Given the description of an element on the screen output the (x, y) to click on. 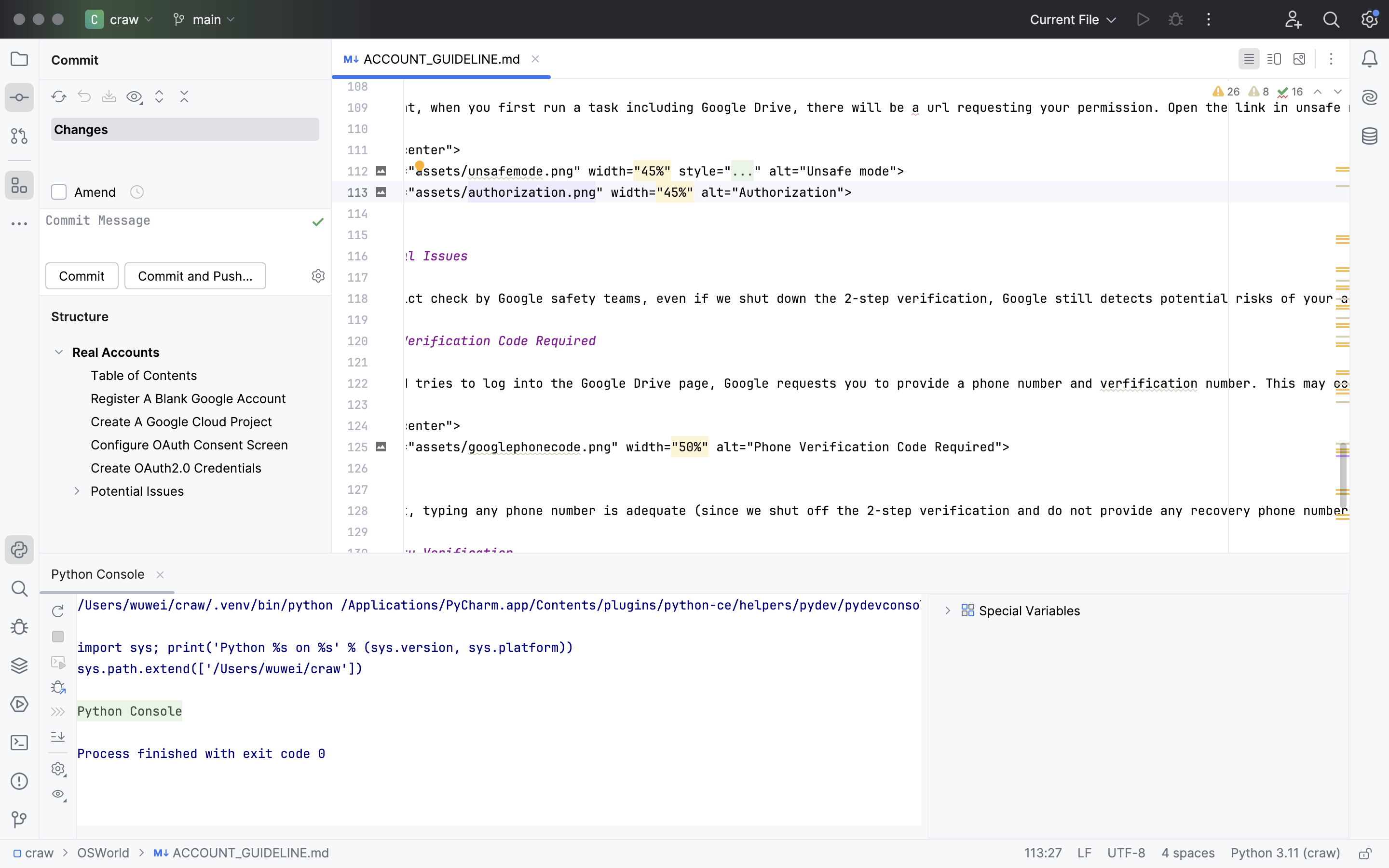
0 0 Configure OAuth Consent Screen Configure OAuth Consent Screen Configure OAuth Consent Screen Configure OAuth Consent Screen Configure OAuth Consent Screen Configure OAuth Consent Screen 0 Register A Blank Google Account Register A Blank Google Account Register A Blank Google Account Register A Blank Google Account Register A Blank Google Account Register A Blank Google Account 0 Create A Google Cloud Project Create A Google Cloud Project Create A Google Cloud Project Create A Google Cloud Project Create A Google Cloud Project Create A Google Cloud Project 0 Create OAuth2.0 Credentials Create OAuth2.0 Credentials Create OAuth2.0 Credentials Create OAuth2.0 Credentials Create OAuth2.0 Credentials Create OAuth2.0 Credentials Structure 0 0 Table of Contents Table of Contents Table of Contents Table of Contents Table of Contents Table of Contents 0 Potential Issues Potential Issues Potential Issues Potential Issues Potential Issues Potential Issues 0 0 Element type: AXGroup (185, 424)
craw – ACCOUNT_GUIDELINE.md Element type: AXStaticText (694, 12)
4 spaces Element type: AXStaticText (1188, 853)
